Given the description of an element on the screen output the (x, y) to click on. 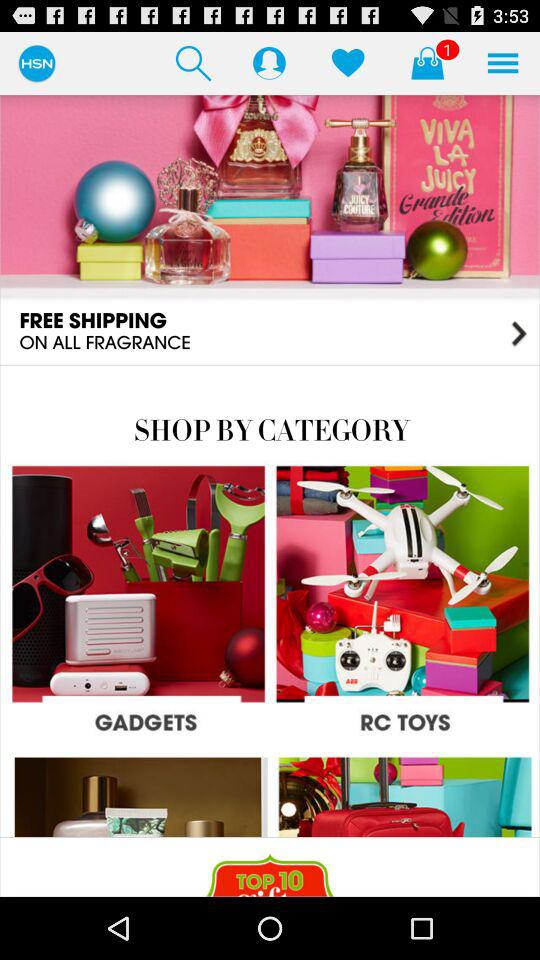
selected items (427, 62)
